Given the description of an element on the screen output the (x, y) to click on. 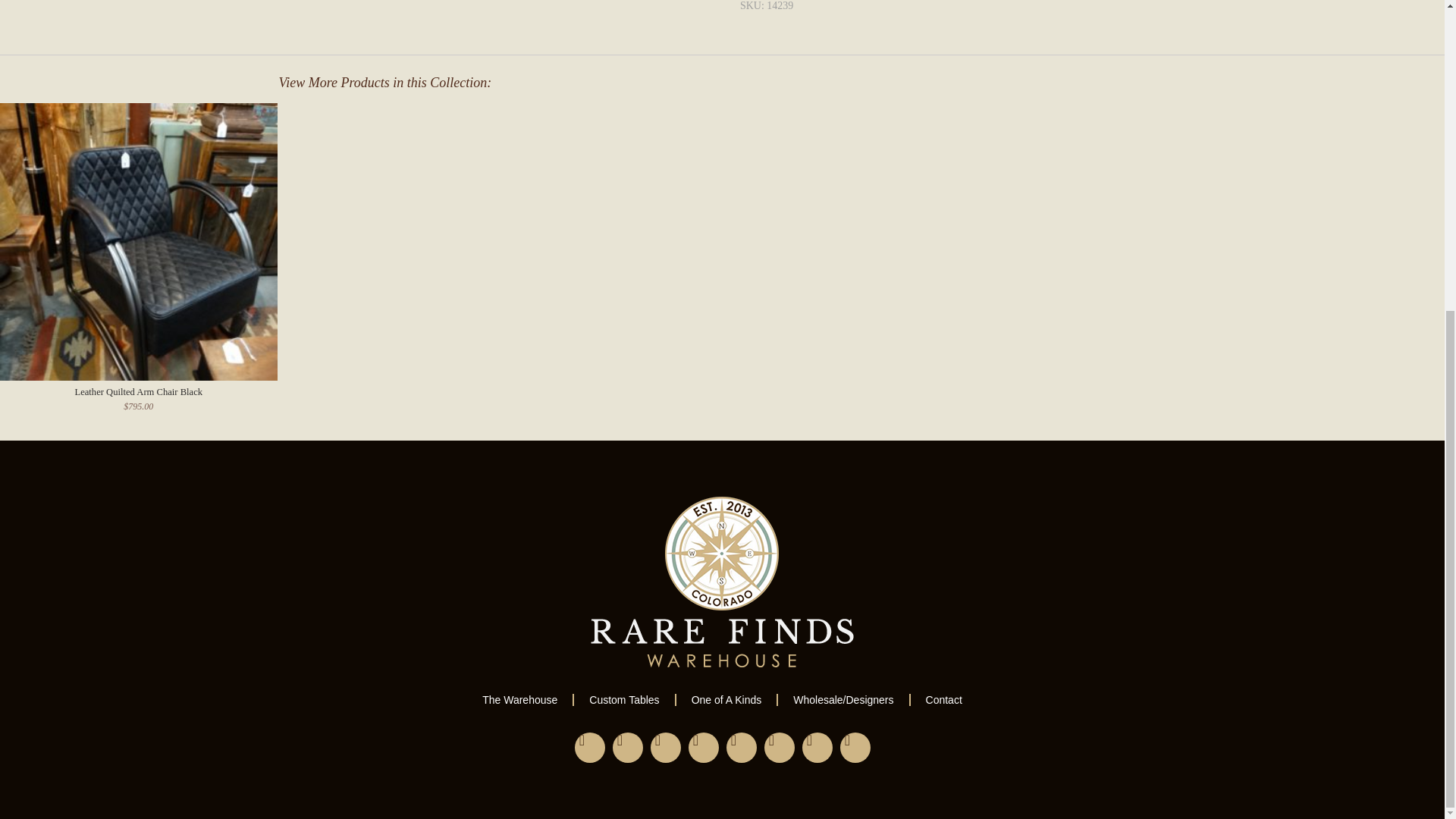
logo - Rare Finds Warehouse (722, 581)
